Given the description of an element on the screen output the (x, y) to click on. 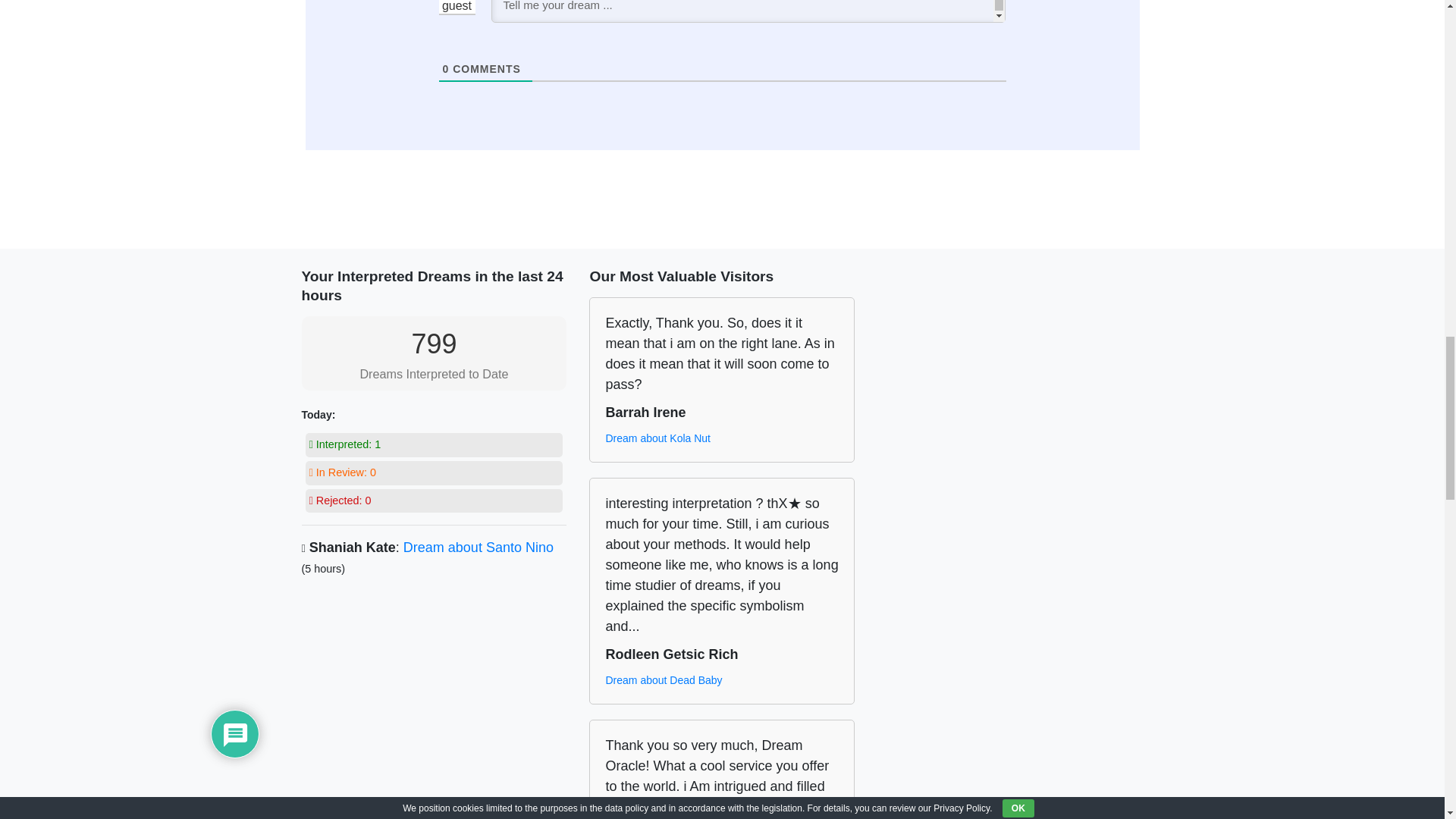
Dream about Dead Baby (663, 680)
0 (445, 69)
Dream about Santo Nino (478, 547)
Dream about Kola Nut (657, 438)
